Given the description of an element on the screen output the (x, y) to click on. 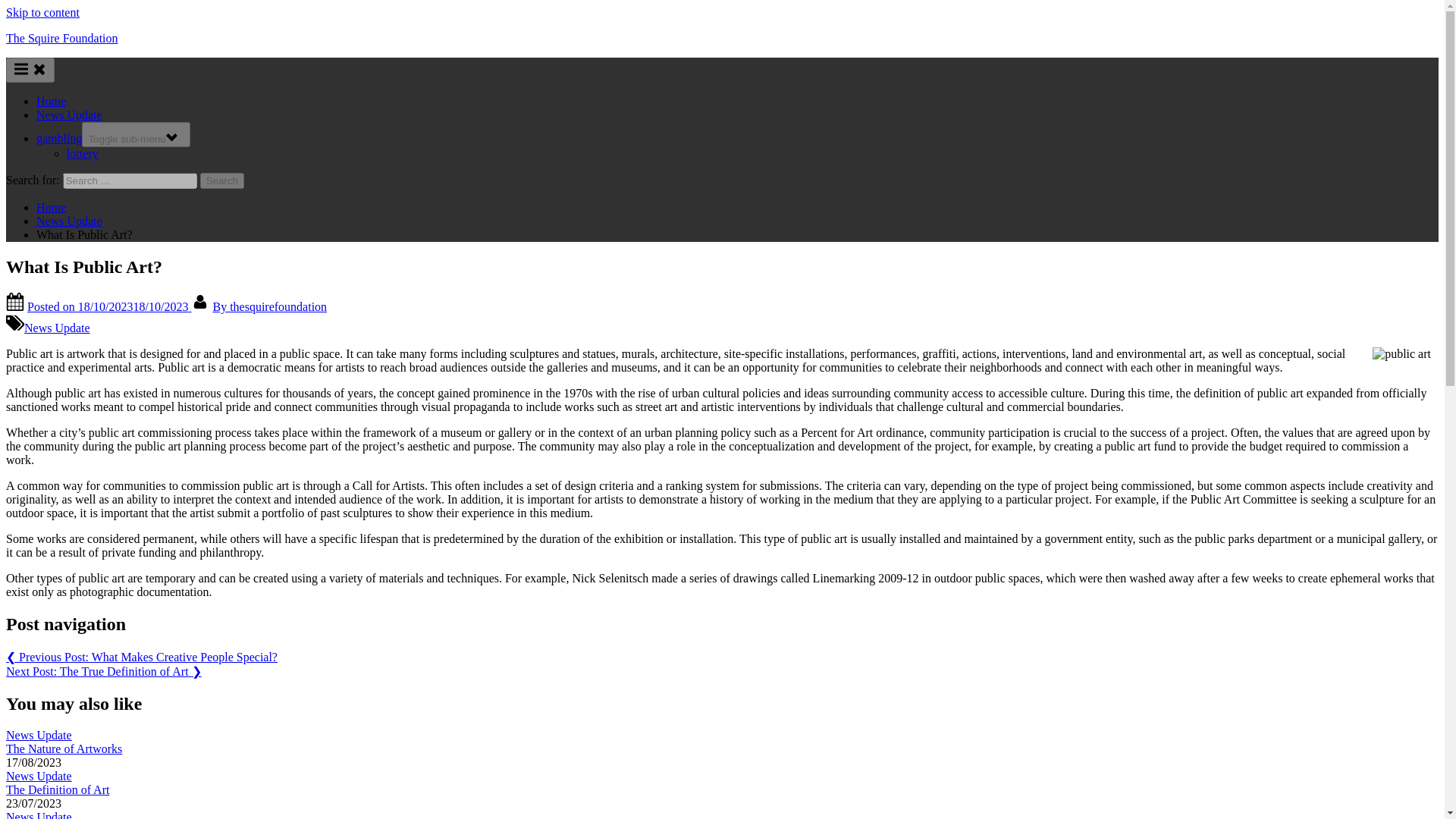
The Nature of Artworks (63, 748)
gambling (58, 137)
News Update (68, 114)
Search (222, 180)
Home (50, 101)
Search (222, 180)
News Update (57, 327)
News Update (38, 814)
News Update (38, 735)
By thesquirefoundation (269, 306)
